Given the description of an element on the screen output the (x, y) to click on. 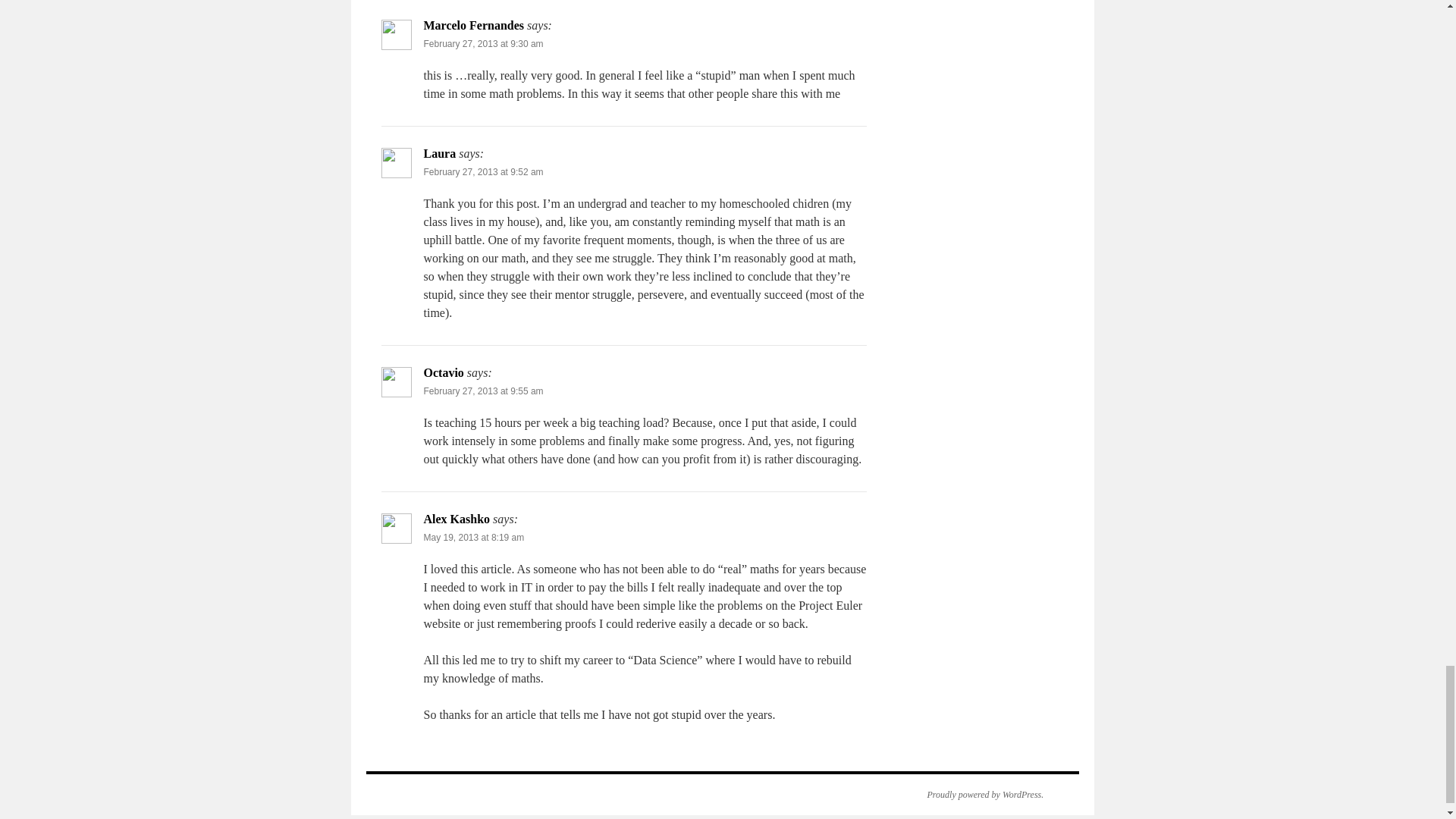
February 27, 2013 at 9:52 am (483, 172)
February 27, 2013 at 9:55 am (483, 390)
May 19, 2013 at 8:19 am (473, 537)
February 27, 2013 at 9:30 am (483, 43)
